Given the description of an element on the screen output the (x, y) to click on. 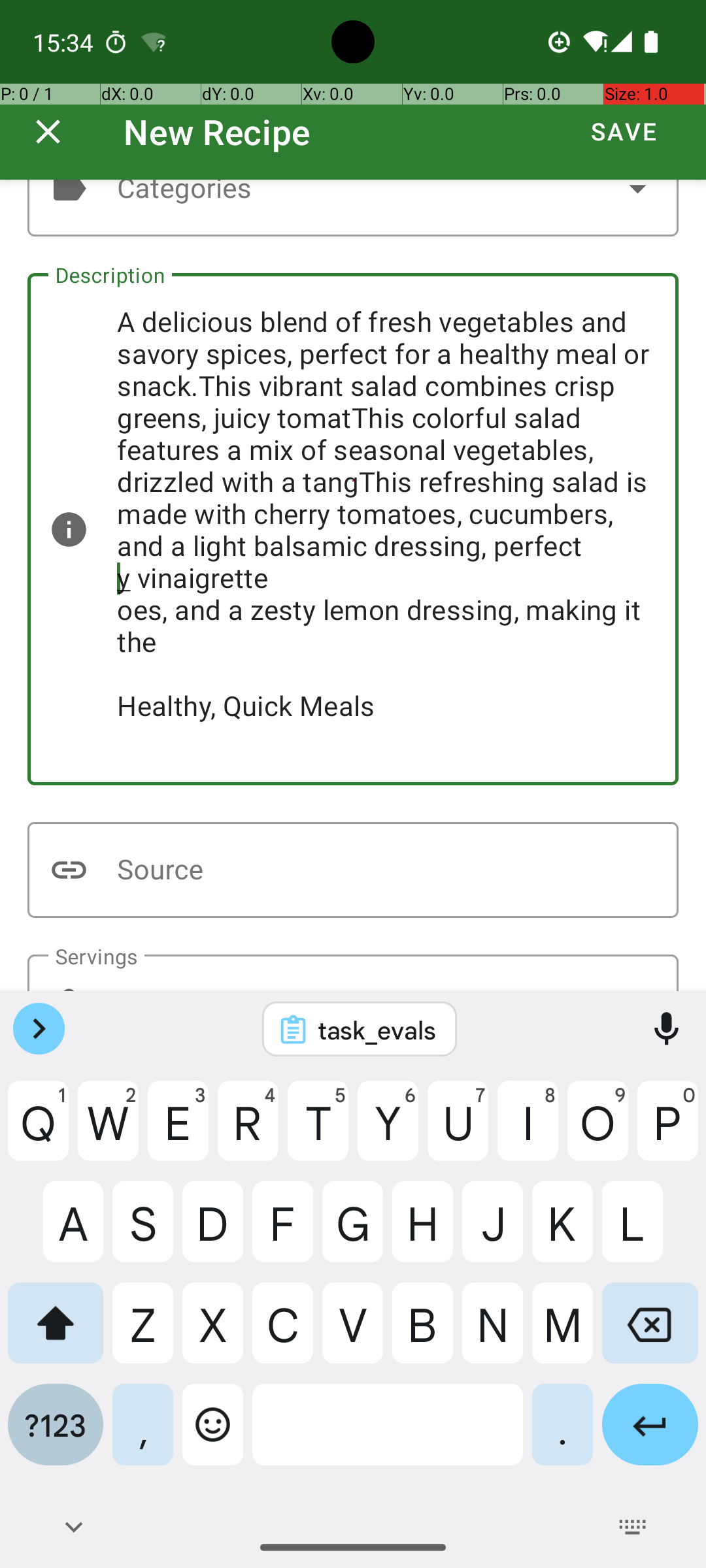
A delicious blend of fresh vegetables and savory spices, perfect for a healthy meal or snack.This vibrant salad combines crisp greens, juicy tomatThis colorful salad features a mix of seasonal vegetables, drizzled with a tangThis refreshing salad is made with cherry tomatoes, cucumbers, and a light balsamic dressing, perfect
y vinaigrette
oes, and a zesty lemon dressing, making it the

Healthy, Quick Meals
 Element type: android.widget.EditText (352, 529)
task_evals Element type: android.widget.TextView (376, 1029)
